Given the description of an element on the screen output the (x, y) to click on. 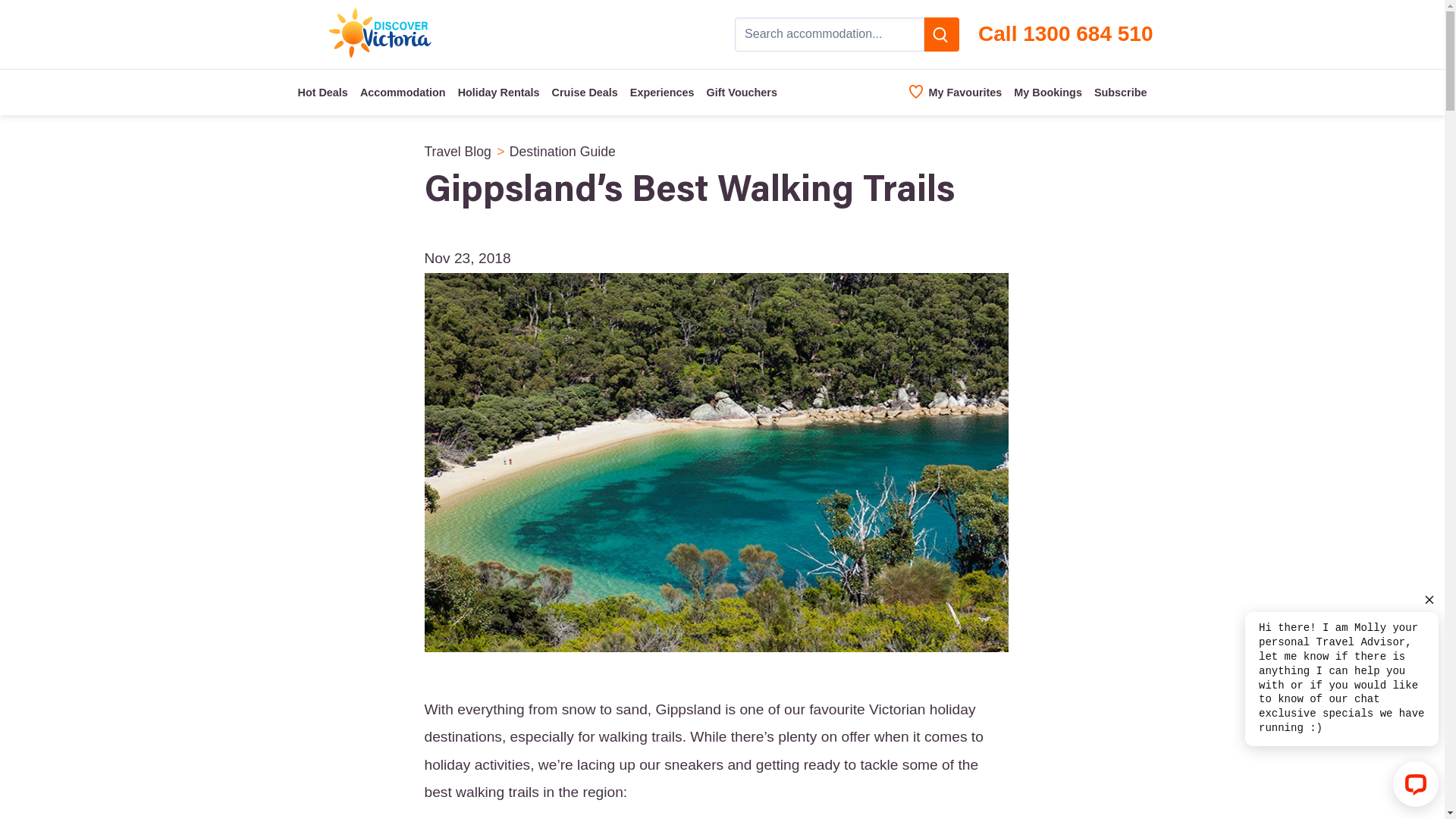
Call 1300 684 510 Element type: text (1065, 34)
Destination Guide Element type: text (562, 151)
Holiday Rentals Element type: text (498, 92)
Accommodation Element type: text (402, 92)
Travel Blog Element type: text (457, 151)
Cruise Deals Element type: text (585, 92)
My Bookings Element type: text (1047, 92)
Gift Vouchers Element type: text (741, 92)
Hot Deals Element type: text (322, 92)
Subscribe Element type: text (1120, 92)
My Favourites Element type: text (955, 92)
Experiences Element type: text (662, 92)
